Given the description of an element on the screen output the (x, y) to click on. 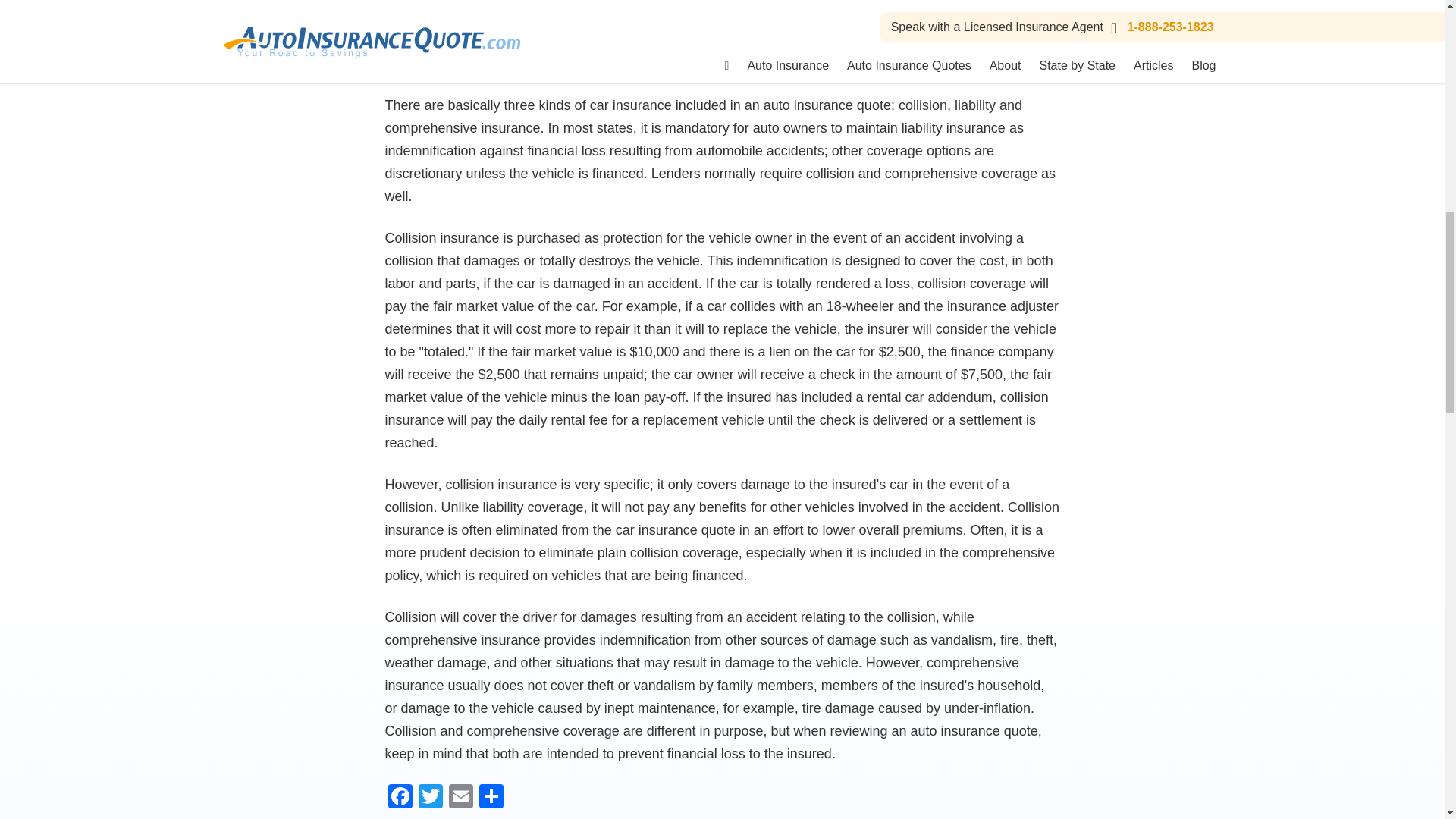
Twitter (429, 797)
Share (491, 797)
Facebook (399, 797)
Facebook (399, 797)
Email (460, 797)
Email (460, 797)
Twitter (429, 797)
